Given the description of an element on the screen output the (x, y) to click on. 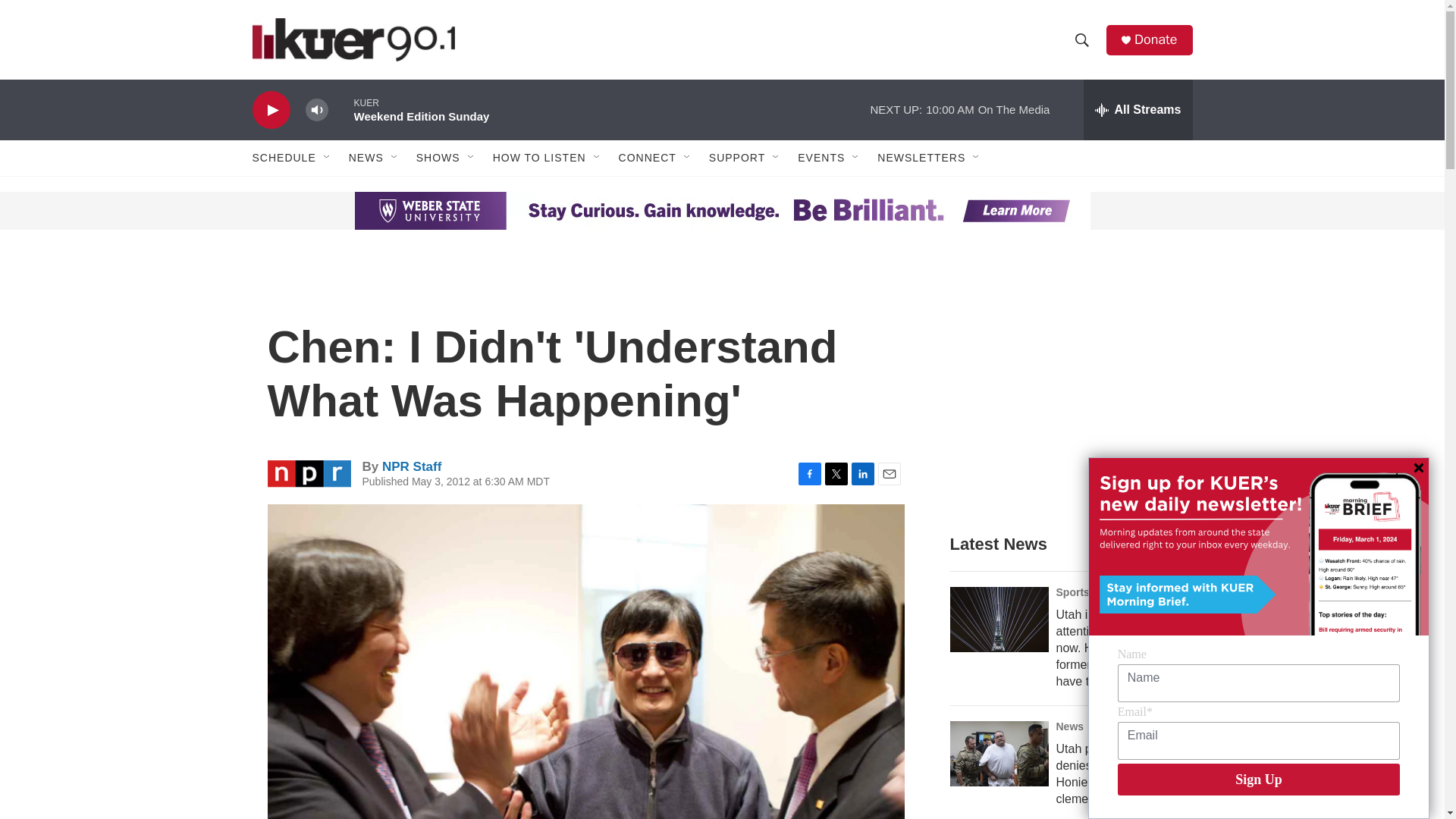
Sign Up (1259, 779)
3rd party ad content (367, 210)
Close (1418, 468)
3rd party ad content (1062, 388)
